Given the description of an element on the screen output the (x, y) to click on. 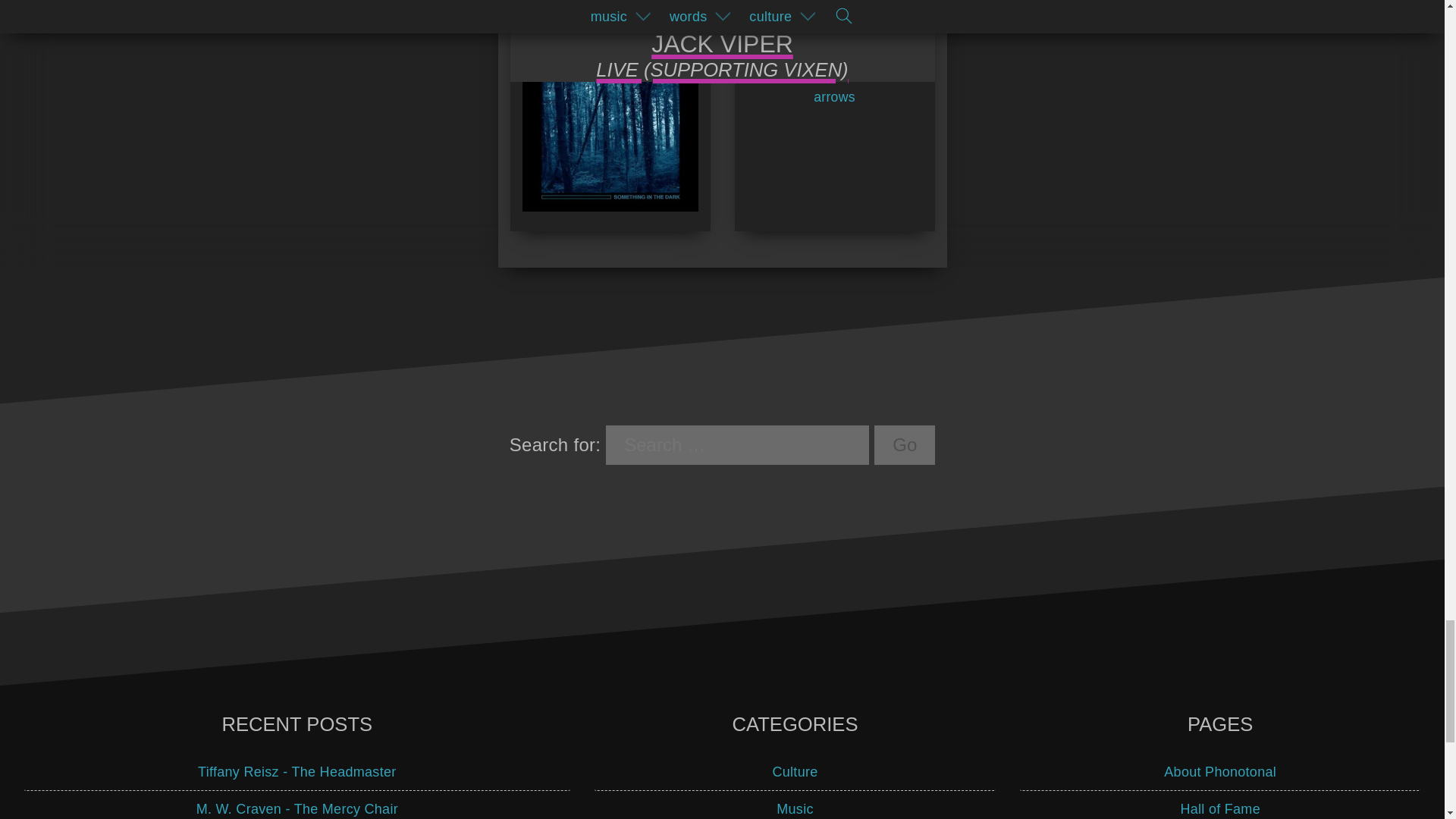
Go (904, 445)
Tiffany Reisz - The Headmaster (297, 772)
Go (904, 445)
BRIEF NOTES FROM GLASTONBURY 2024 (833, 54)
M. W. Craven - The Mercy Chair (297, 805)
THE NIGHTMARES - SOMETHING IN THE DARK (609, 109)
